Given the description of an element on the screen output the (x, y) to click on. 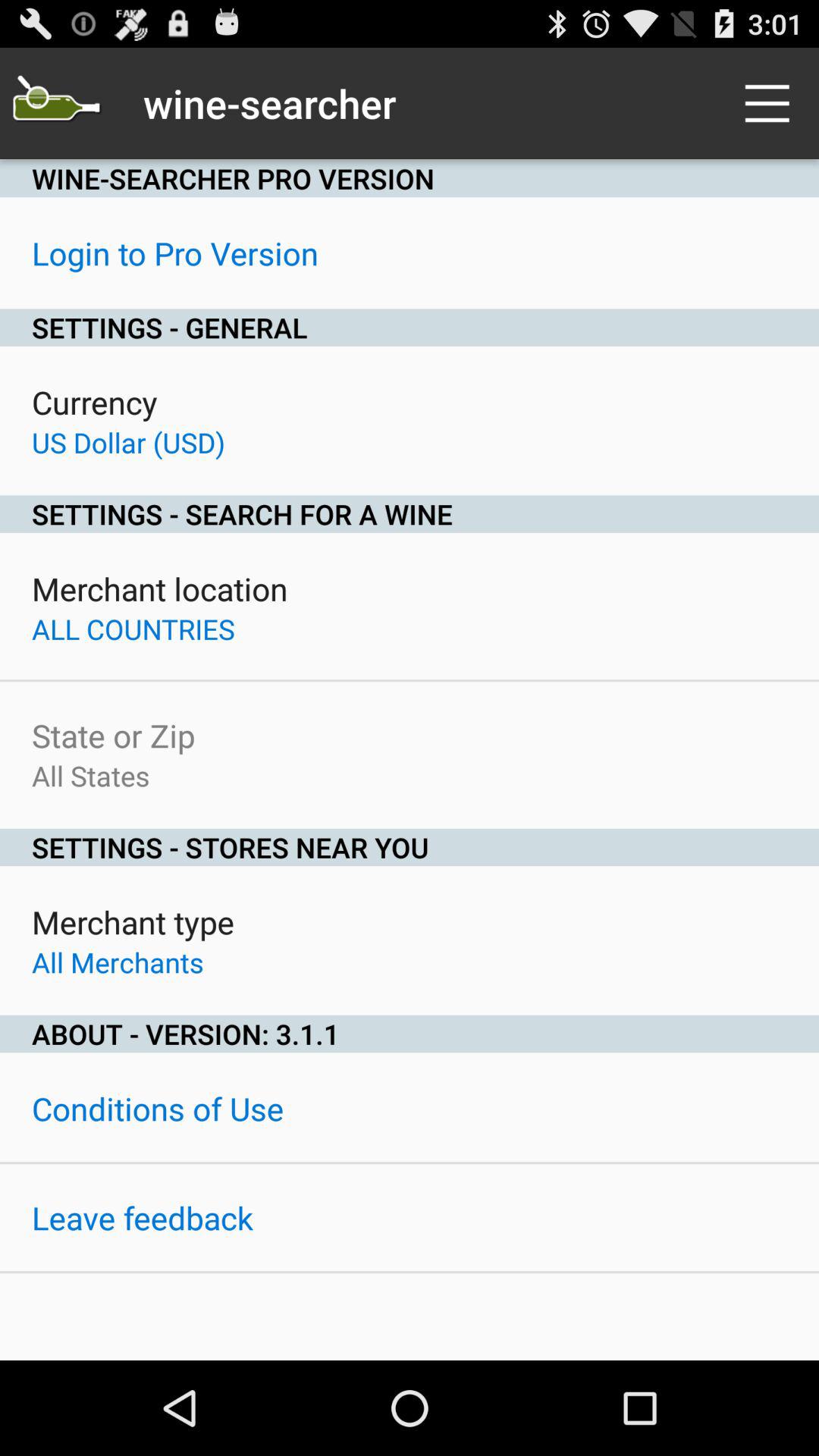
flip until the all countries item (132, 628)
